Given the description of an element on the screen output the (x, y) to click on. 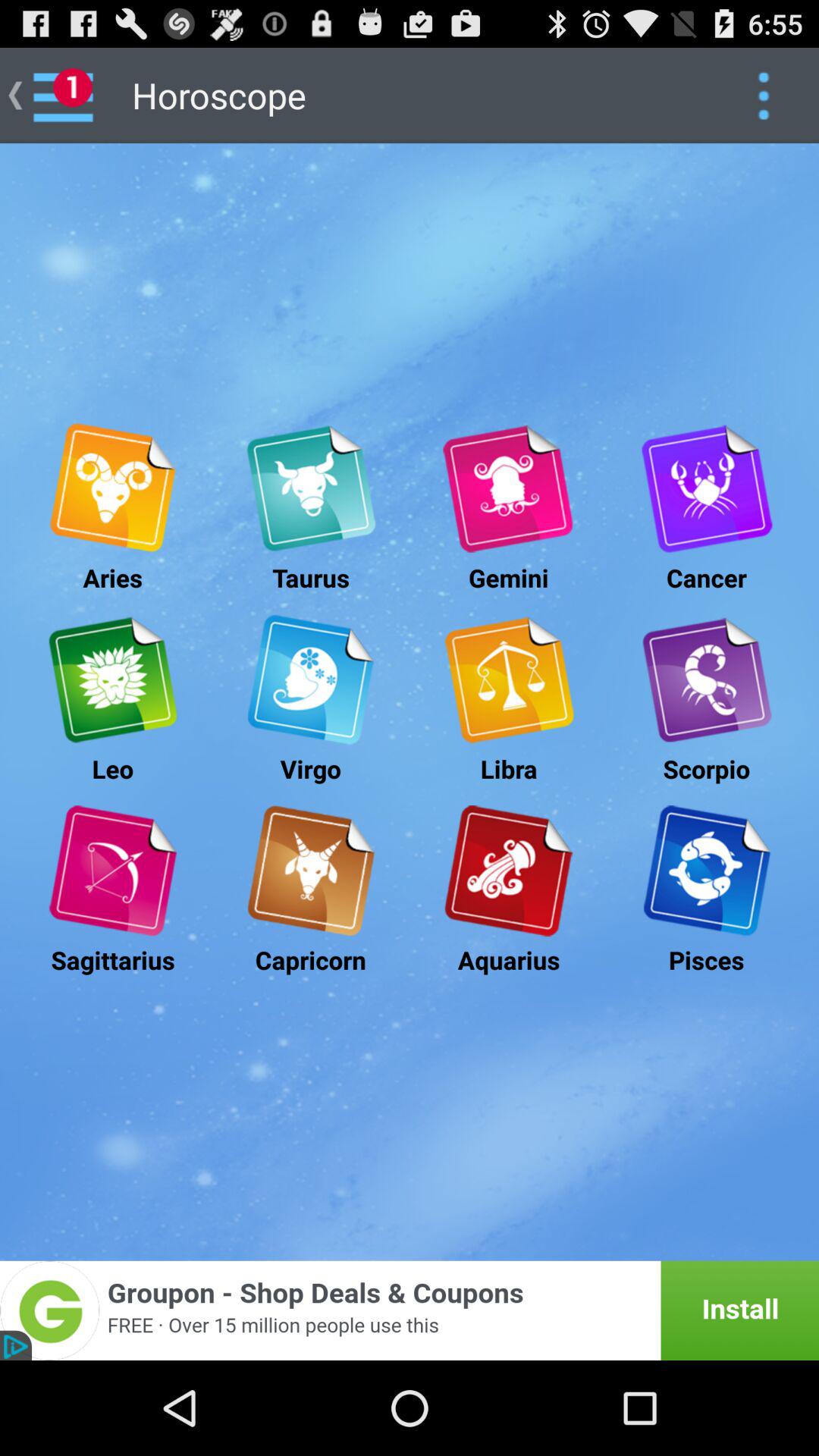
open aries horoscope (112, 488)
